Given the description of an element on the screen output the (x, y) to click on. 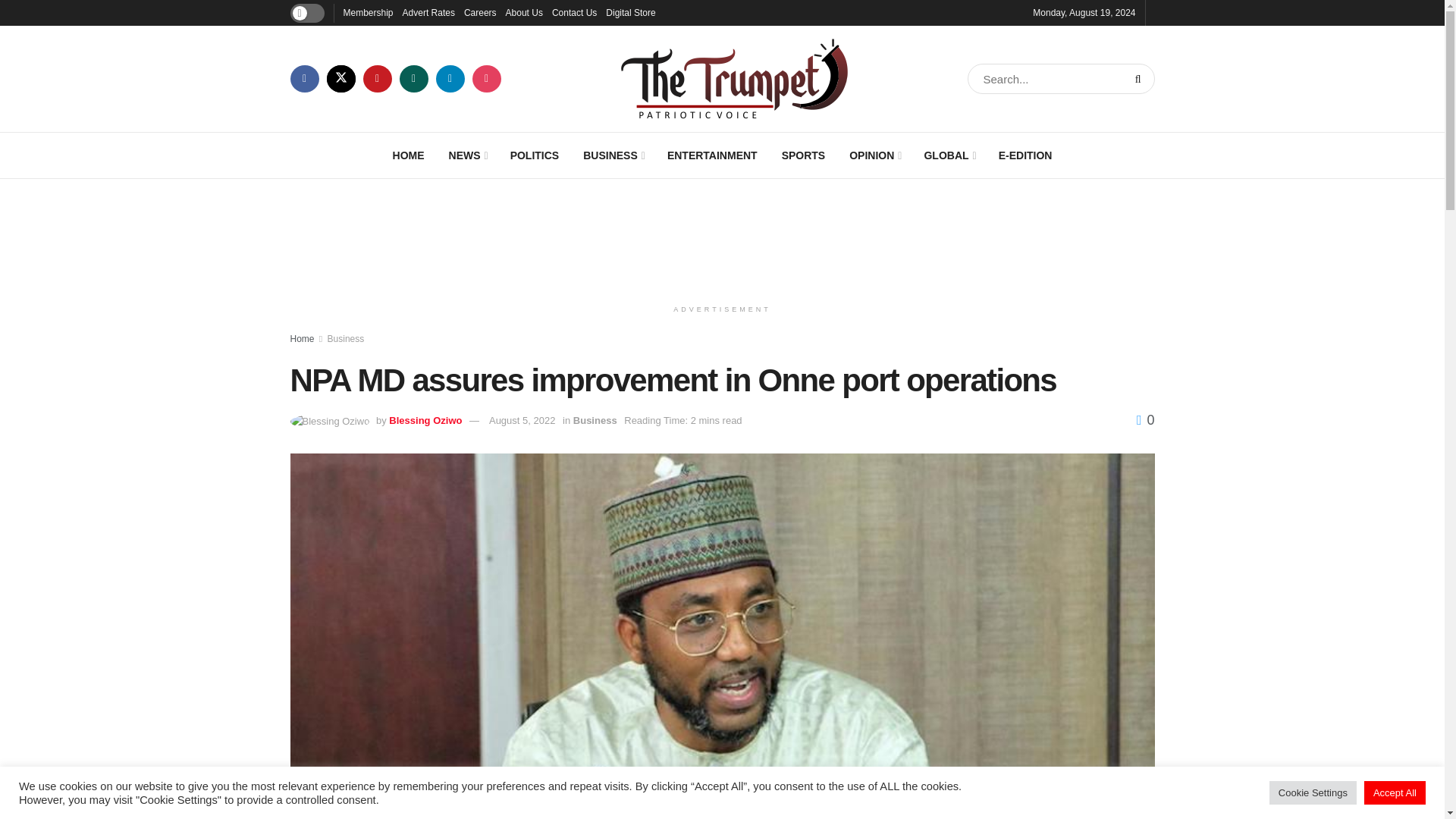
BUSINESS (612, 155)
HOME (408, 155)
Advertisement (722, 235)
Contact Us (573, 12)
SPORTS (804, 155)
About Us (524, 12)
GLOBAL (948, 155)
Advert Rates (428, 12)
Membership (367, 12)
POLITICS (534, 155)
